Given the description of an element on the screen output the (x, y) to click on. 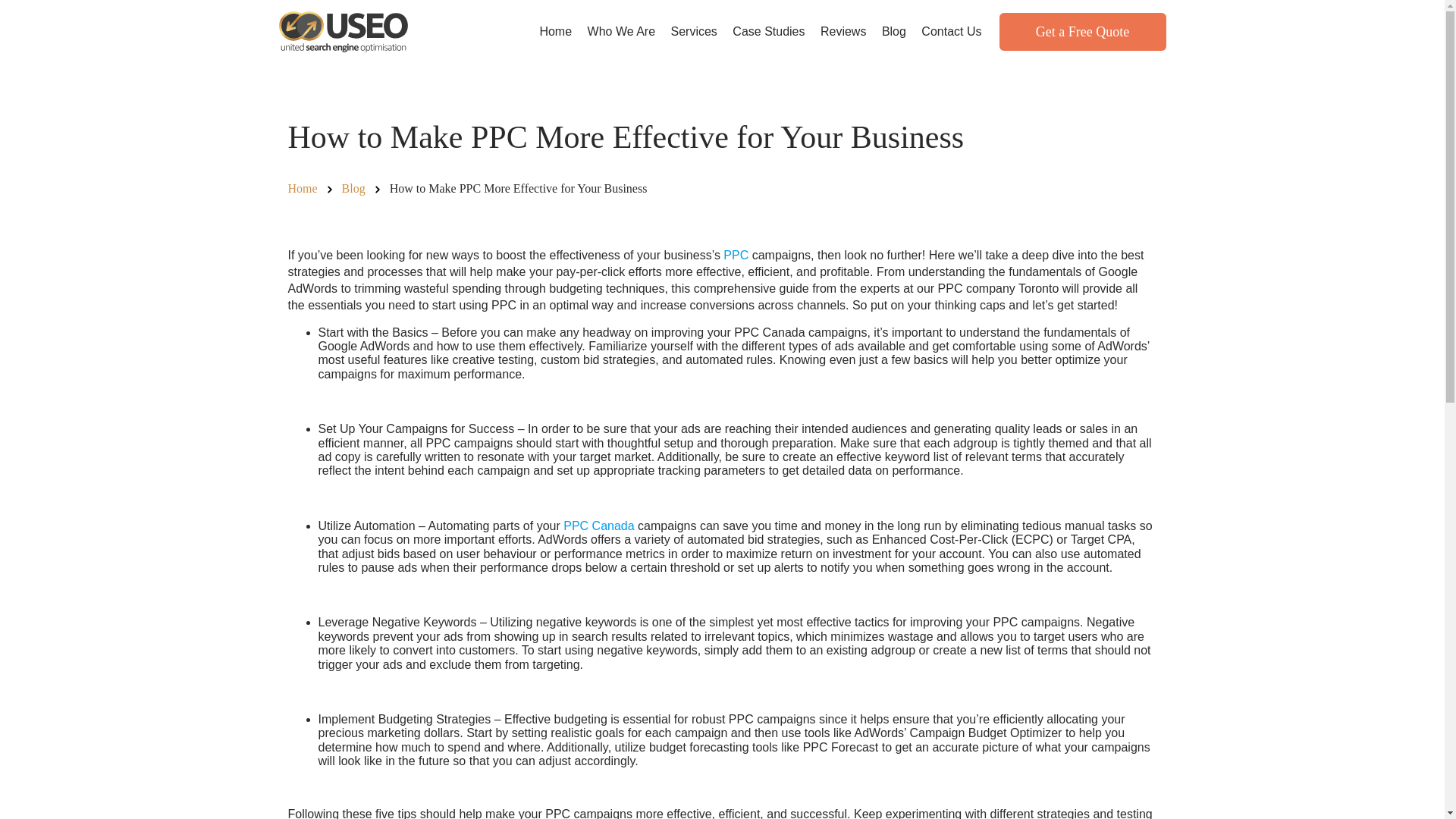
Contact Us (951, 31)
Who We Are (621, 31)
How to Make PPC More Effective for Your Business (518, 187)
Home (555, 31)
Blog (894, 31)
PPC (735, 254)
Blog (353, 187)
Reviews (842, 31)
Home (302, 187)
Case Studies (768, 31)
Get a Free Quote (1082, 31)
Opens a widget where you can chat to one of our agents (1386, 792)
Services (694, 31)
Home (302, 187)
PPC Canada (598, 525)
